Given the description of an element on the screen output the (x, y) to click on. 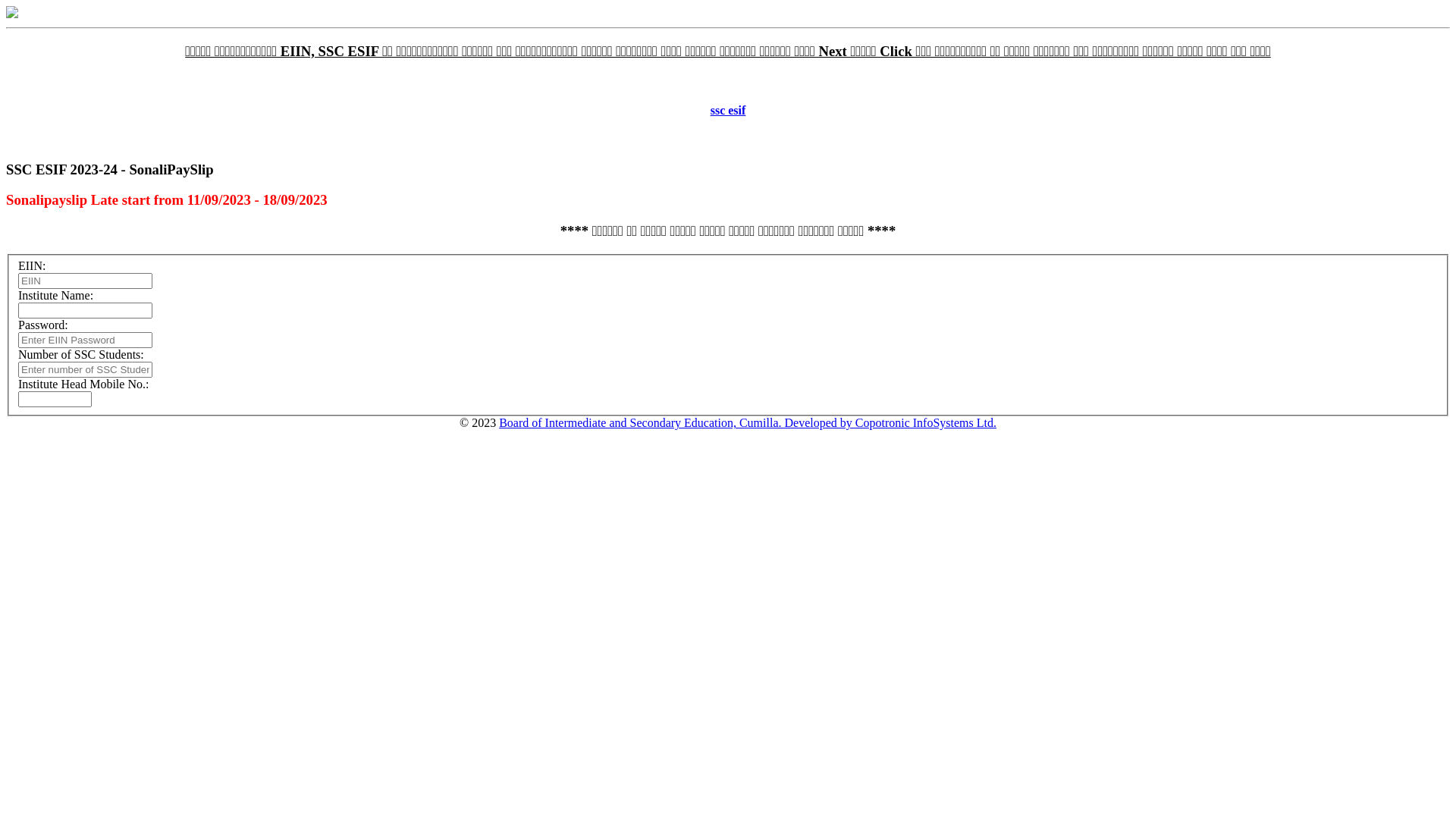
ssc esif Element type: text (728, 109)
